Given the description of an element on the screen output the (x, y) to click on. 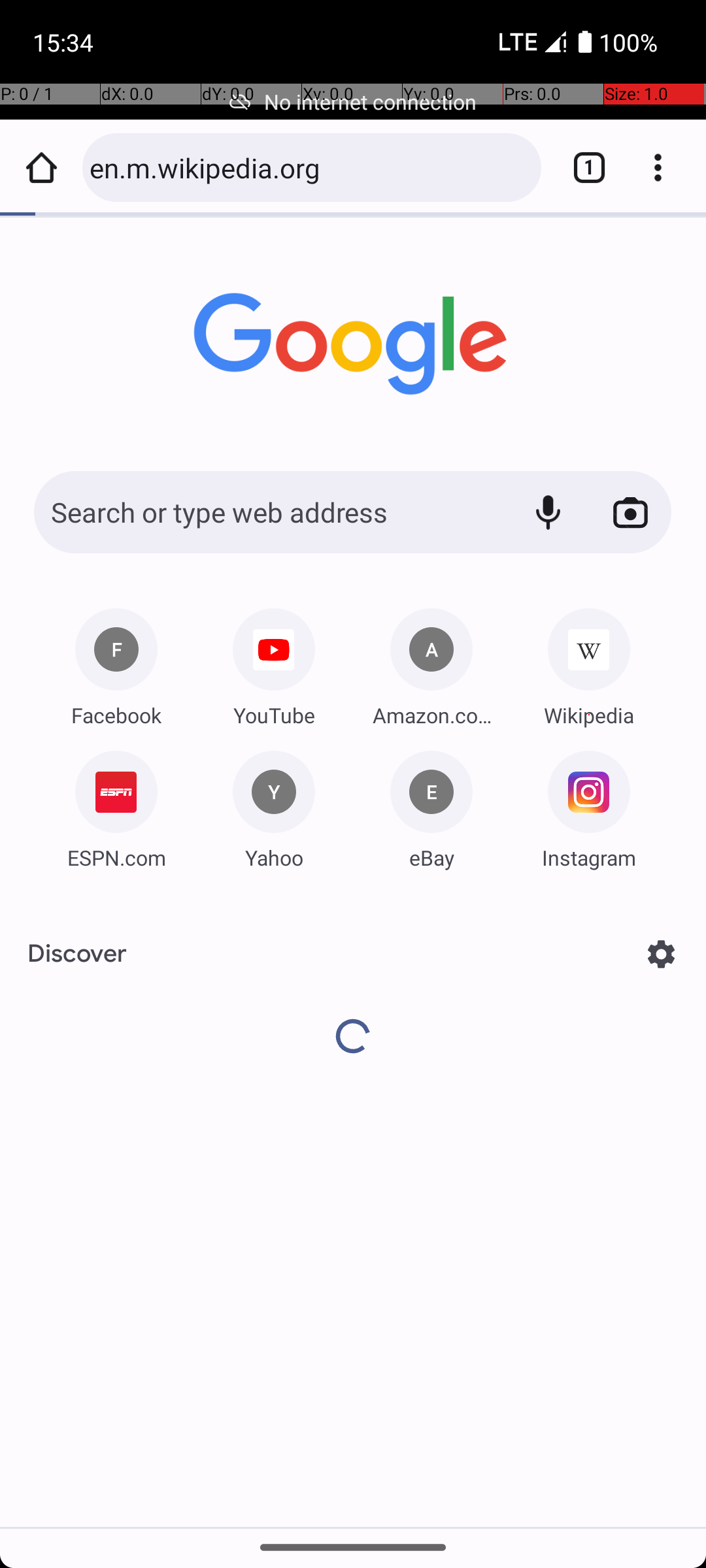
en.m.wikipedia.org Element type: android.widget.EditText (308, 167)
